Given the description of an element on the screen output the (x, y) to click on. 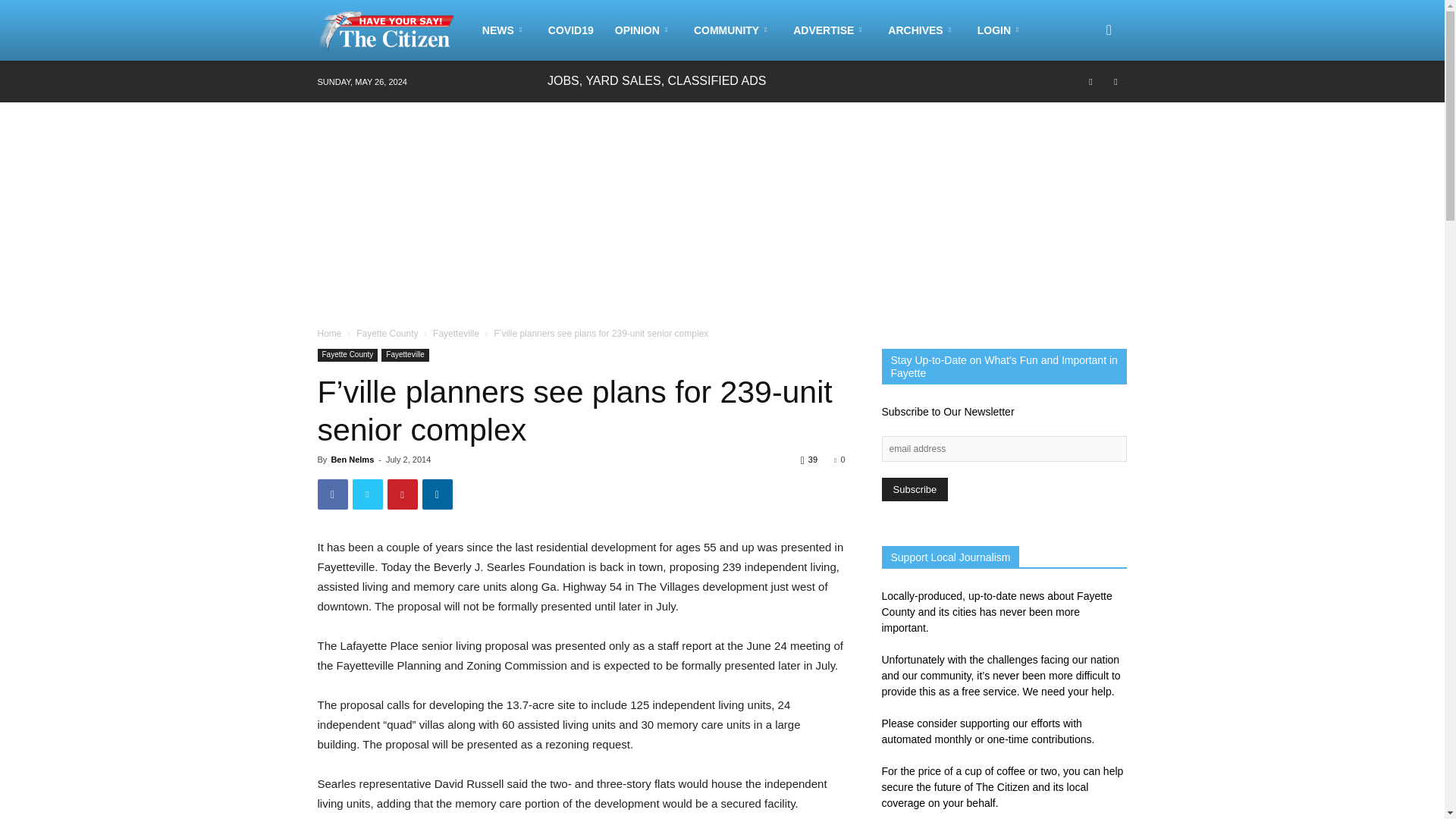
View all posts in Fayette County (386, 333)
Twitter (1114, 80)
View all posts in Fayetteville (455, 333)
Subscribe (913, 489)
Facebook (1090, 80)
